Given the description of an element on the screen output the (x, y) to click on. 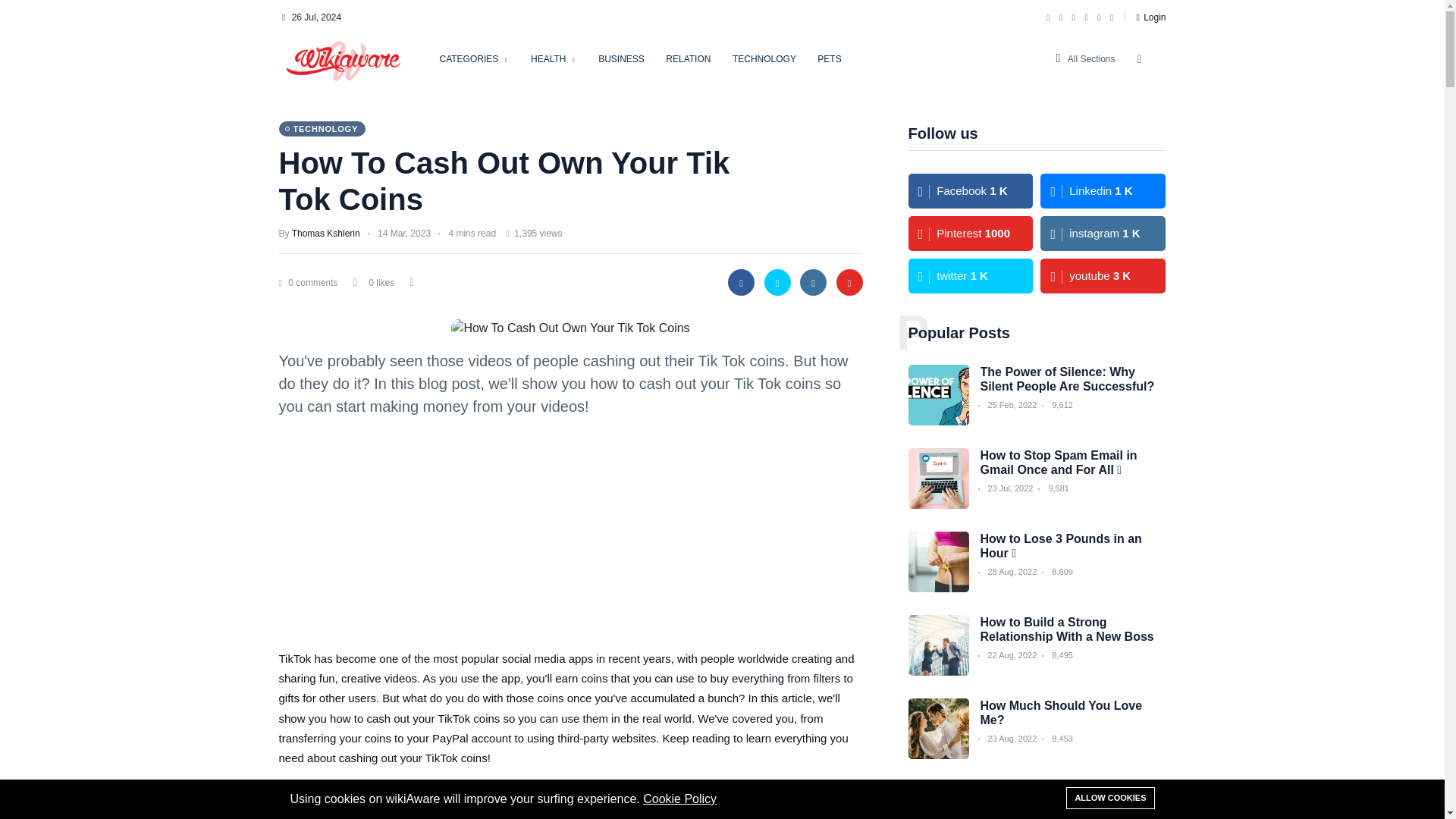
Login (1150, 17)
Add to favorite (356, 285)
